Given the description of an element on the screen output the (x, y) to click on. 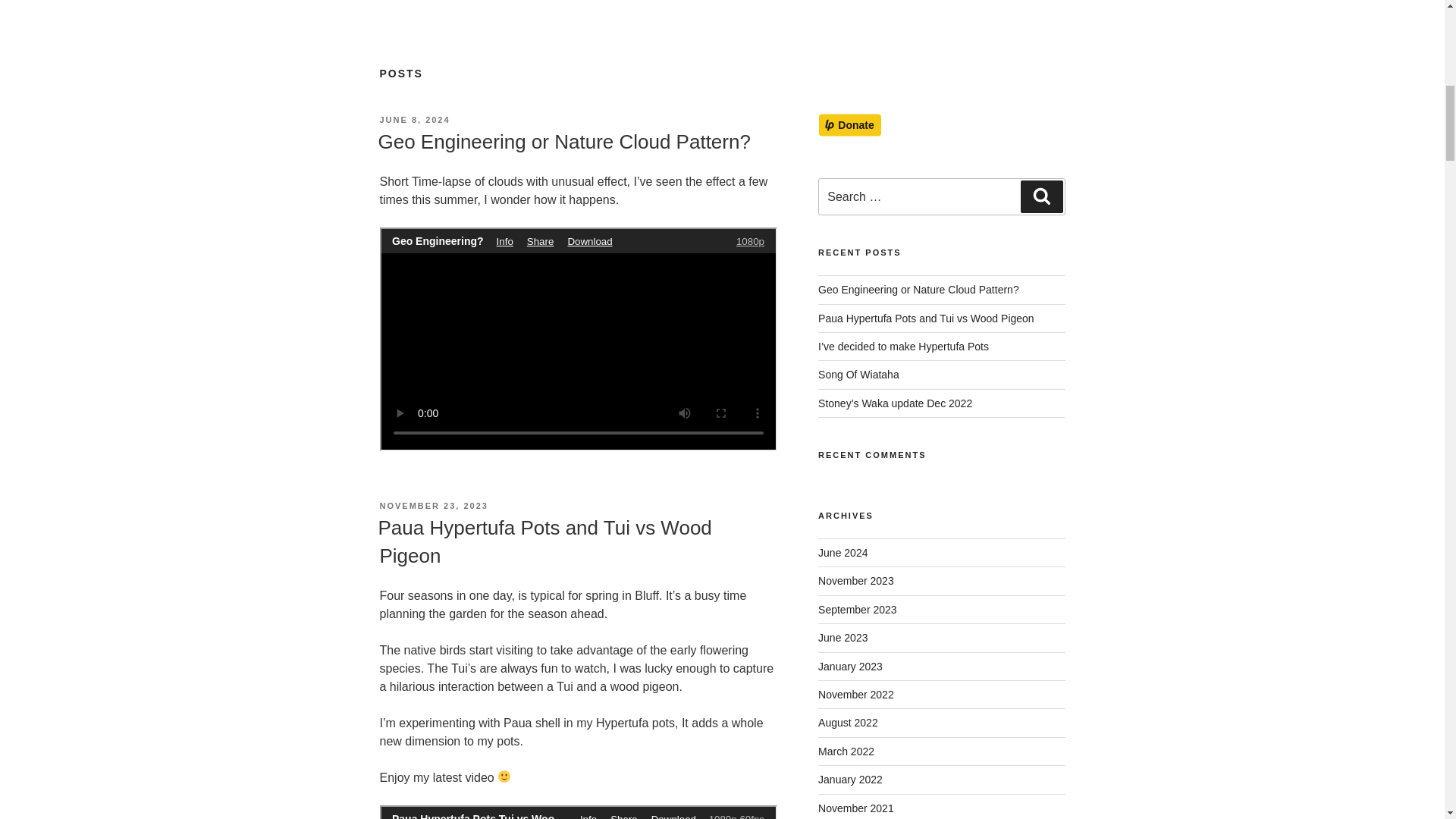
Paua Hypertufa Pots and Tui vs Wood Pigeon (544, 541)
Geo Engineering or Nature Cloud Pattern? (563, 141)
NOVEMBER 23, 2023 (432, 505)
JUNE 8, 2024 (413, 119)
Search (1041, 196)
